Given the description of an element on the screen output the (x, y) to click on. 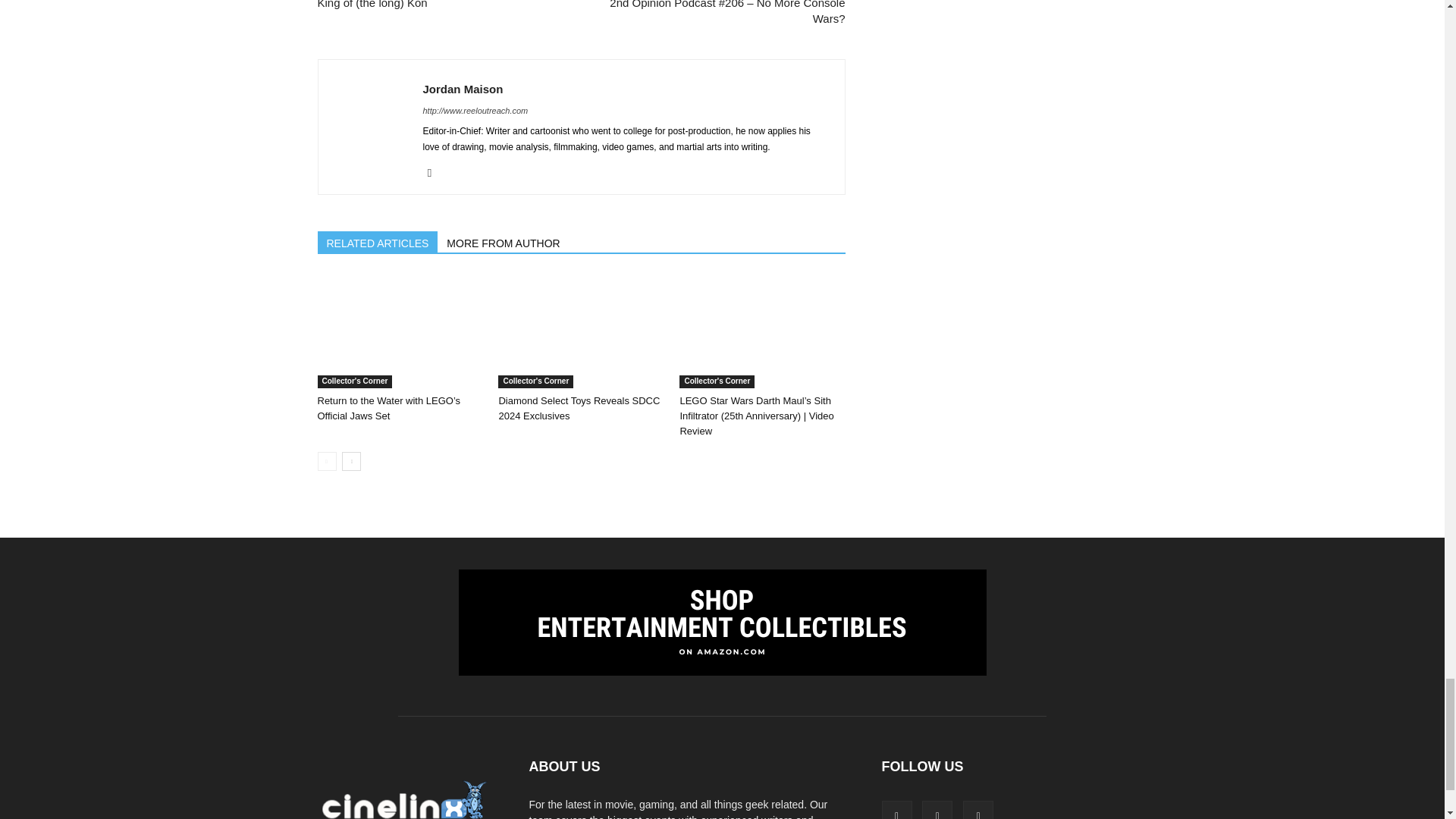
Twitter (435, 172)
